Given the description of an element on the screen output the (x, y) to click on. 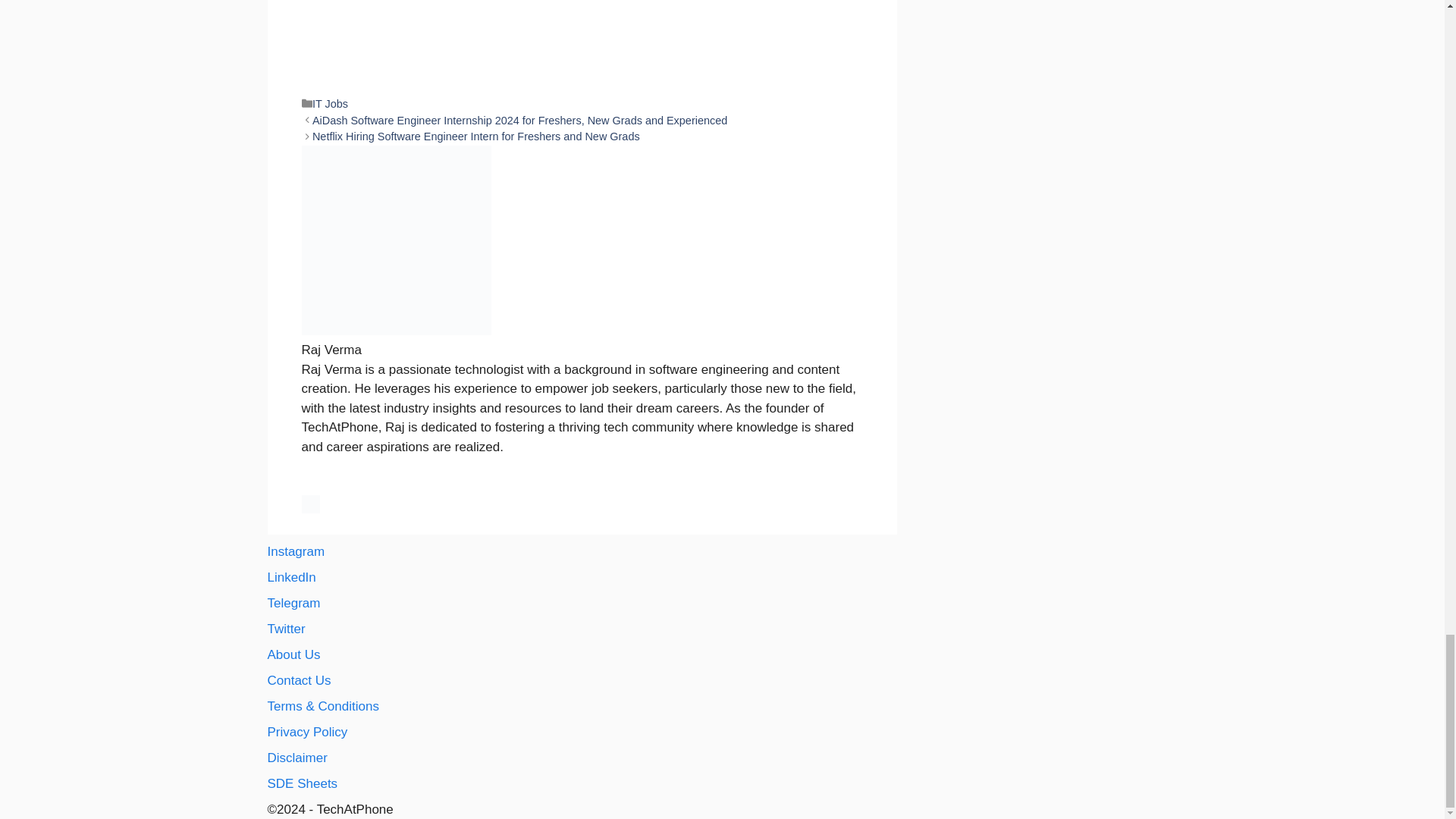
IT Jobs (330, 103)
